Given the description of an element on the screen output the (x, y) to click on. 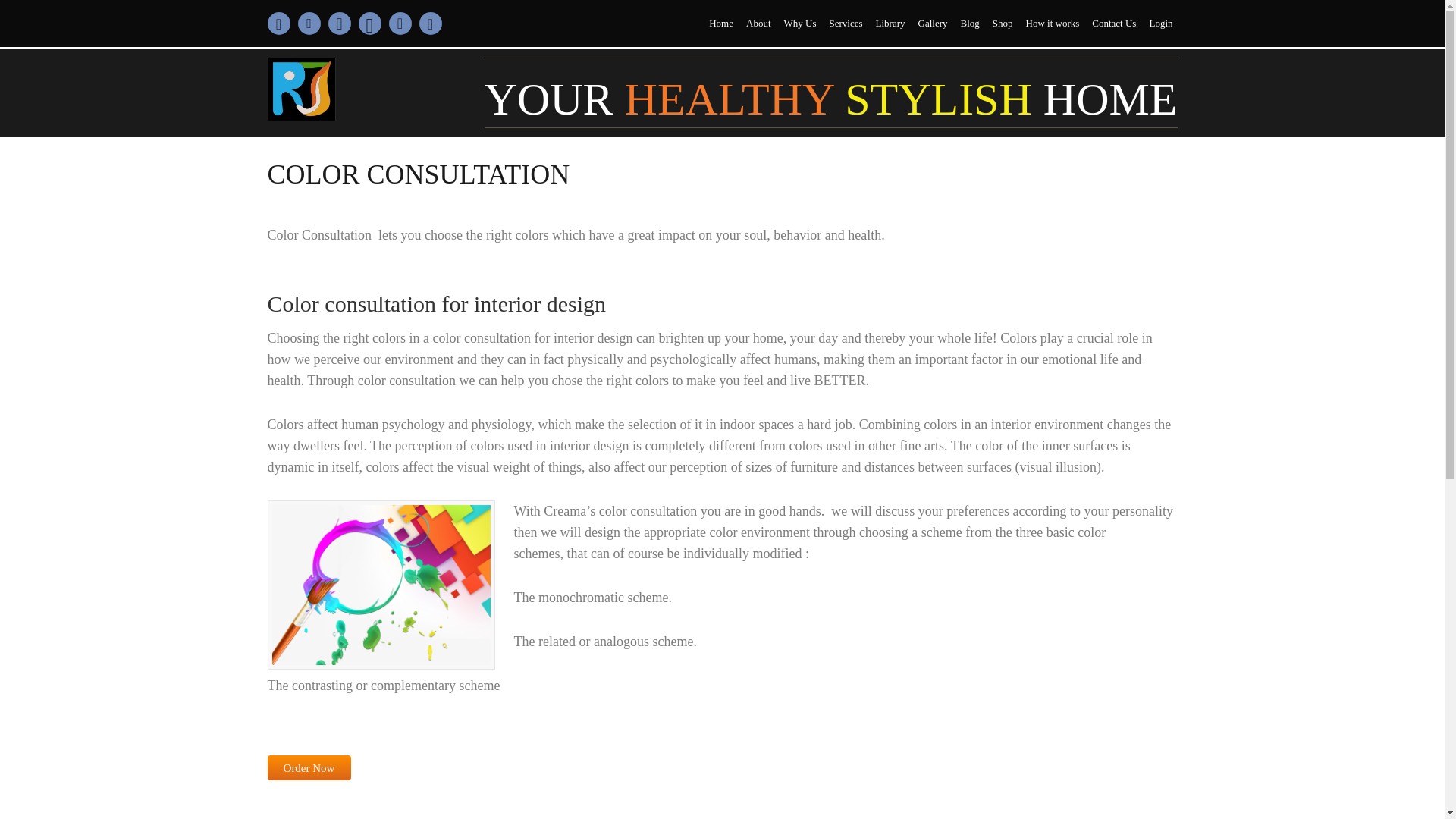
Gallery (932, 23)
How it works (1053, 23)
Shop (1002, 23)
Services (845, 23)
How it works (1053, 23)
Library (890, 23)
Why Us (799, 23)
Home (721, 23)
Login (1160, 23)
Contact Us (1113, 23)
Contact Us (1113, 23)
About (758, 23)
Home (721, 23)
Shop (1002, 23)
Blog (969, 23)
